Given the description of an element on the screen output the (x, y) to click on. 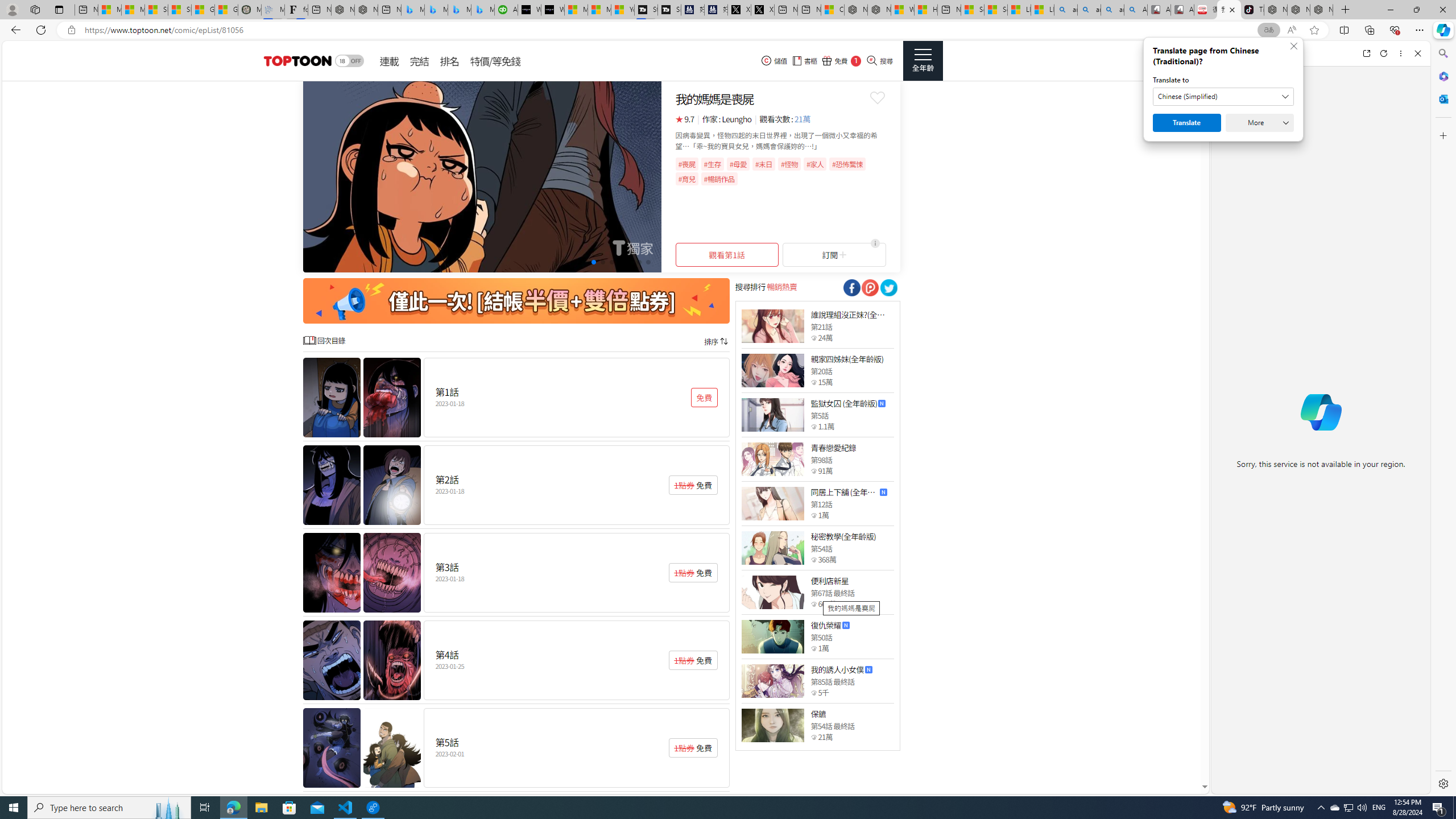
Show translate options (1268, 29)
Go to slide 8 (629, 261)
Go to slide 2 (575, 261)
Class: side_menu_btn actionRightMenuBtn (922, 60)
